Given the description of an element on the screen output the (x, y) to click on. 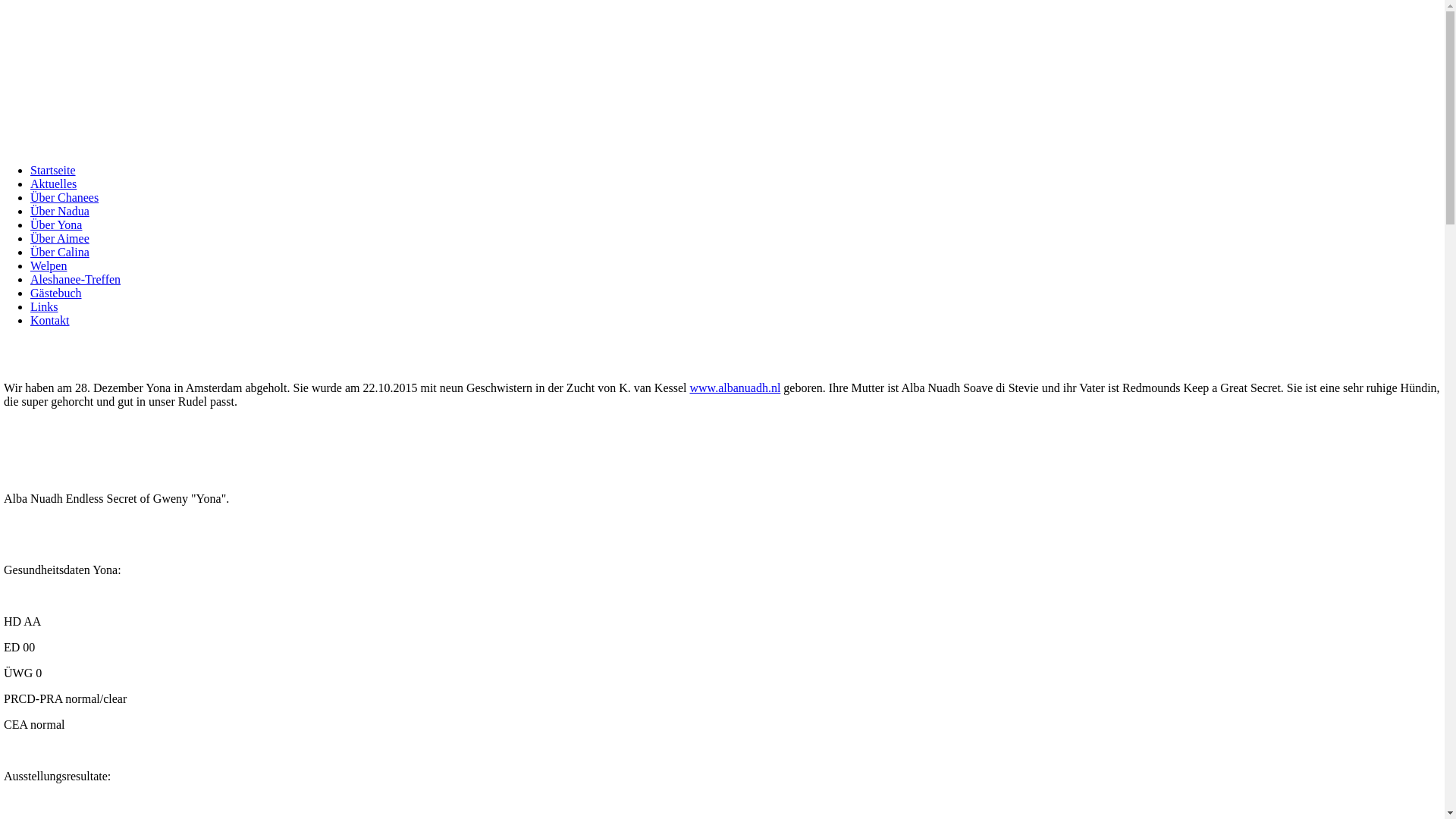
Kontakt Element type: text (49, 319)
Welpen Element type: text (48, 265)
Startseite Element type: text (52, 169)
Aktuelles Element type: text (53, 183)
Aleshanee-Treffen Element type: text (75, 279)
Links Element type: text (43, 306)
www.albanuadh.nl Element type: text (735, 387)
